Given the description of an element on the screen output the (x, y) to click on. 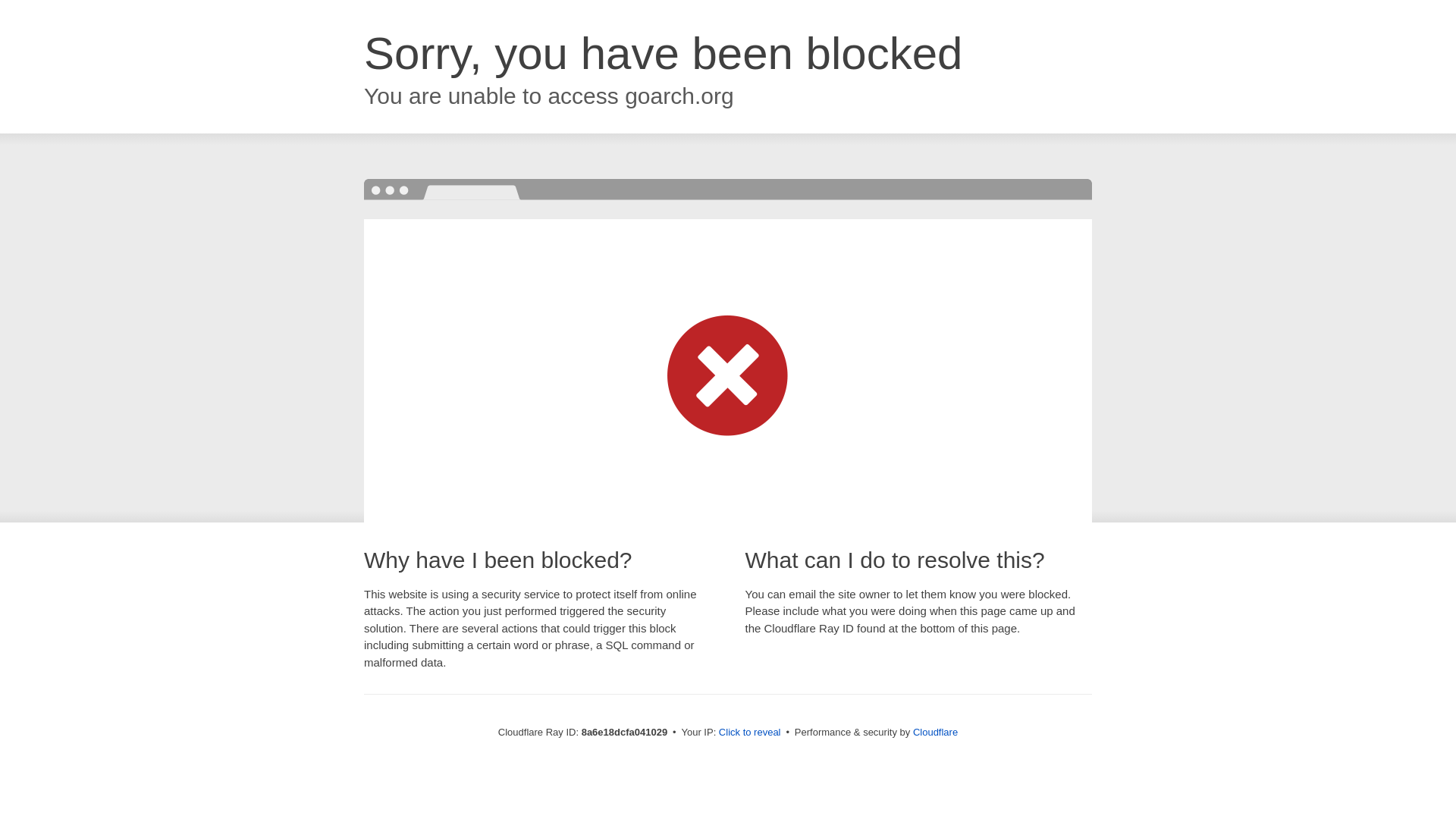
Click to reveal (749, 732)
Cloudflare (935, 731)
